Given the description of an element on the screen output the (x, y) to click on. 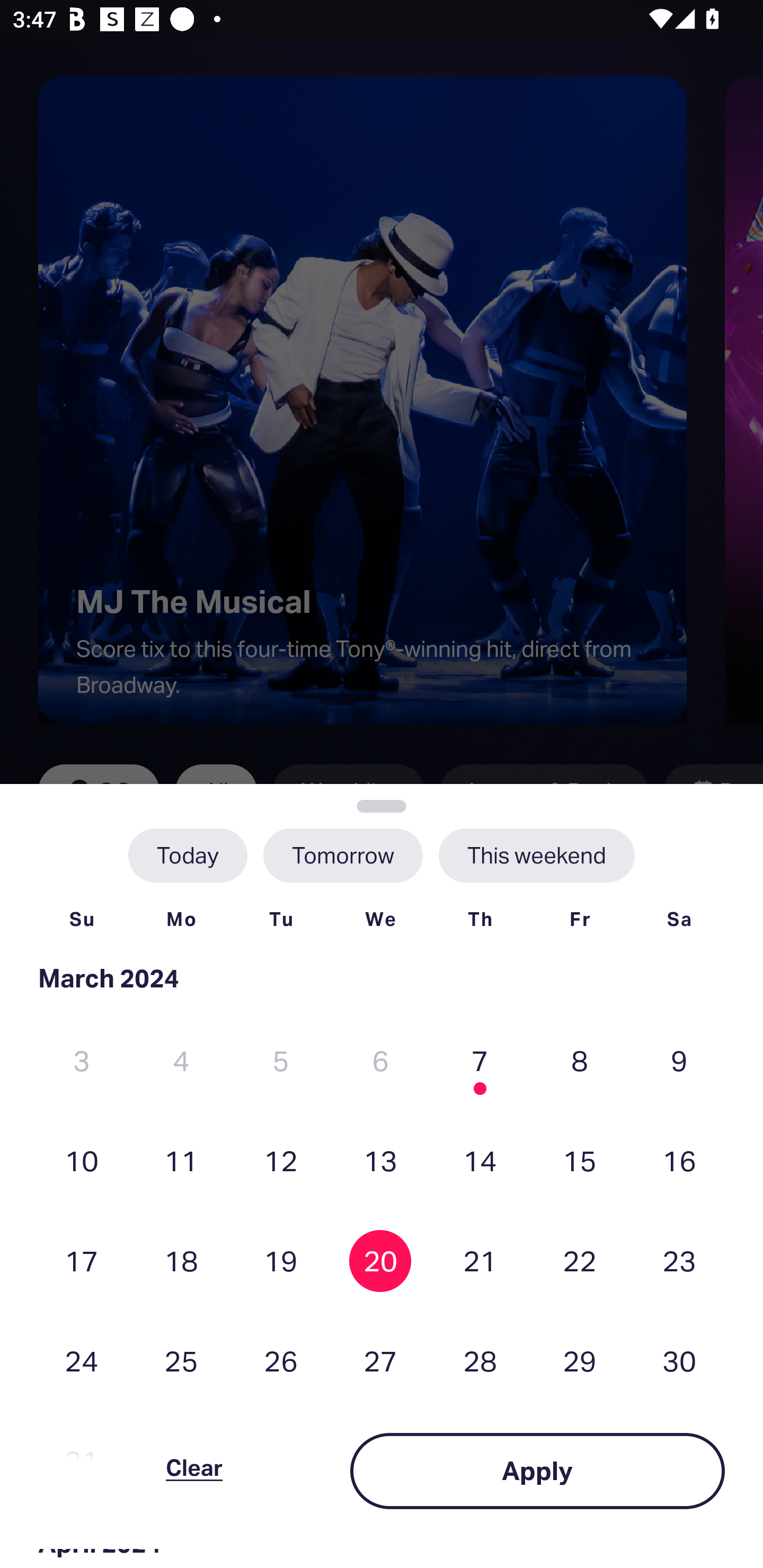
Today (187, 854)
Tomorrow (342, 854)
This weekend (536, 854)
3 (81, 1060)
4 (181, 1060)
5 (280, 1060)
6 (380, 1060)
7 (479, 1060)
8 (579, 1060)
9 (678, 1060)
10 (81, 1160)
11 (181, 1160)
12 (280, 1160)
13 (380, 1160)
14 (479, 1160)
15 (579, 1160)
16 (678, 1160)
17 (81, 1260)
18 (181, 1260)
19 (280, 1260)
20 (380, 1260)
21 (479, 1260)
22 (579, 1260)
23 (678, 1260)
24 (81, 1360)
25 (181, 1360)
26 (280, 1360)
27 (380, 1360)
28 (479, 1360)
29 (579, 1360)
30 (678, 1360)
Clear (194, 1470)
Apply (537, 1470)
